Given the description of an element on the screen output the (x, y) to click on. 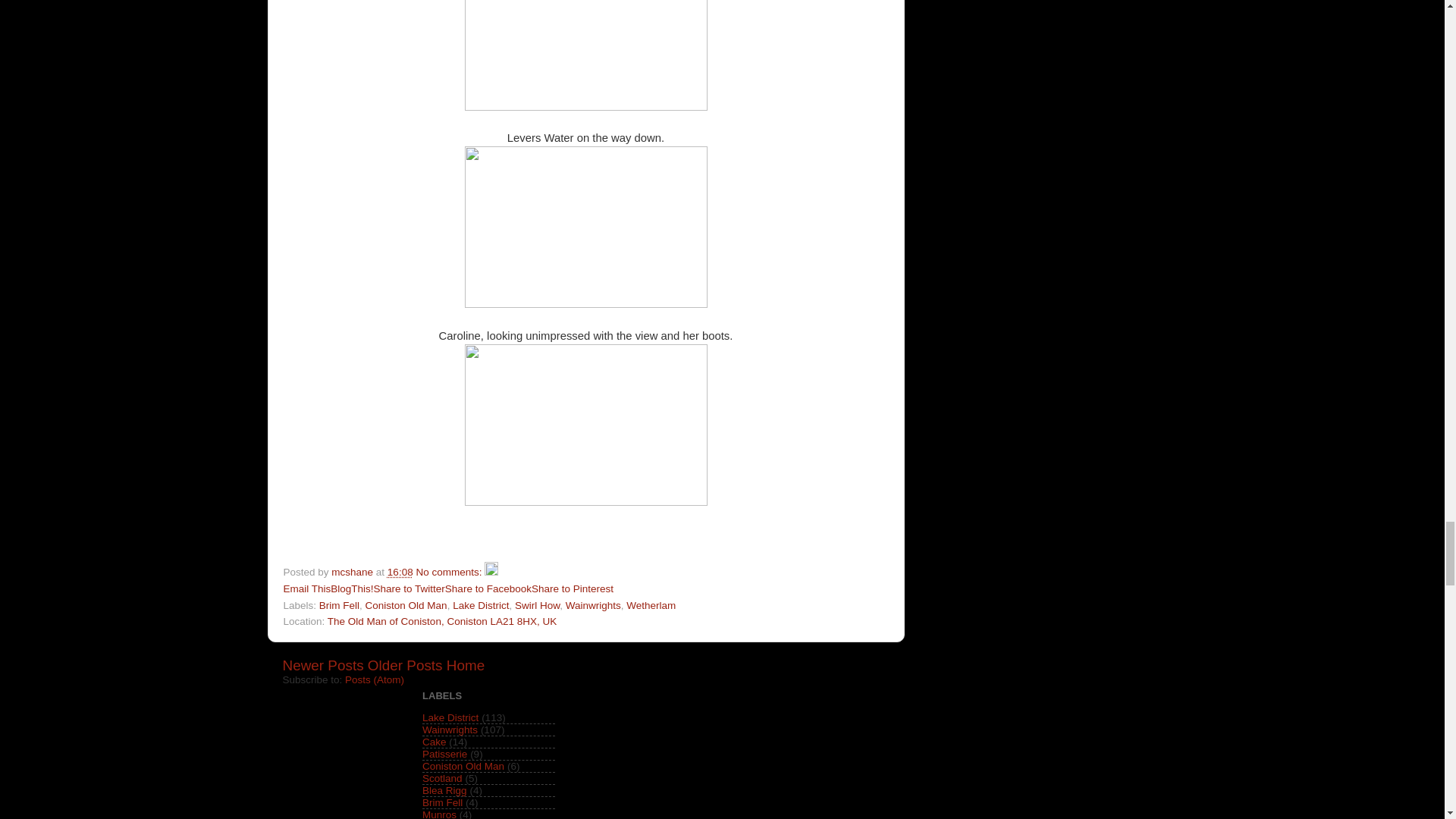
permanent link (400, 572)
BlogThis! (351, 588)
Share to Facebook (488, 588)
author profile (353, 572)
Share to Twitter (409, 588)
Email This (307, 588)
Edit Post (490, 572)
